Given the description of an element on the screen output the (x, y) to click on. 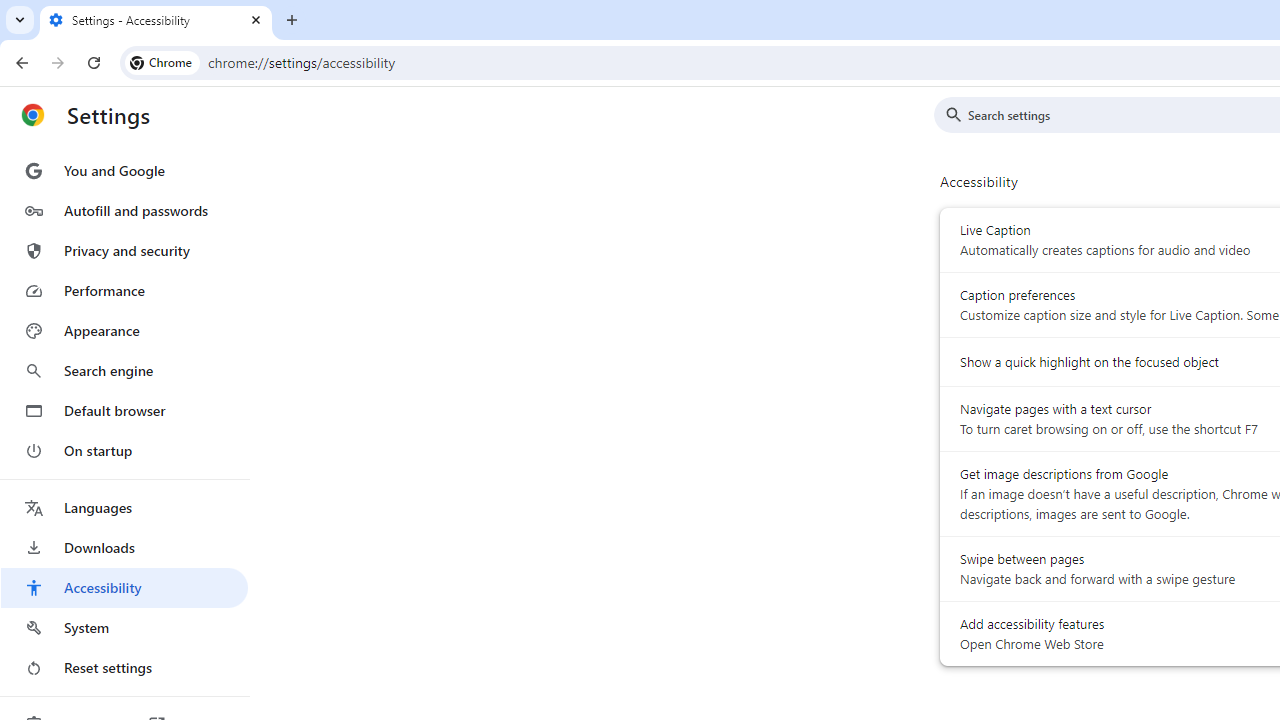
Appearance (124, 331)
Autofill and passwords (124, 210)
Performance (124, 290)
Default browser (124, 410)
Search engine (124, 370)
Accessibility (124, 587)
You and Google (124, 170)
